Given the description of an element on the screen output the (x, y) to click on. 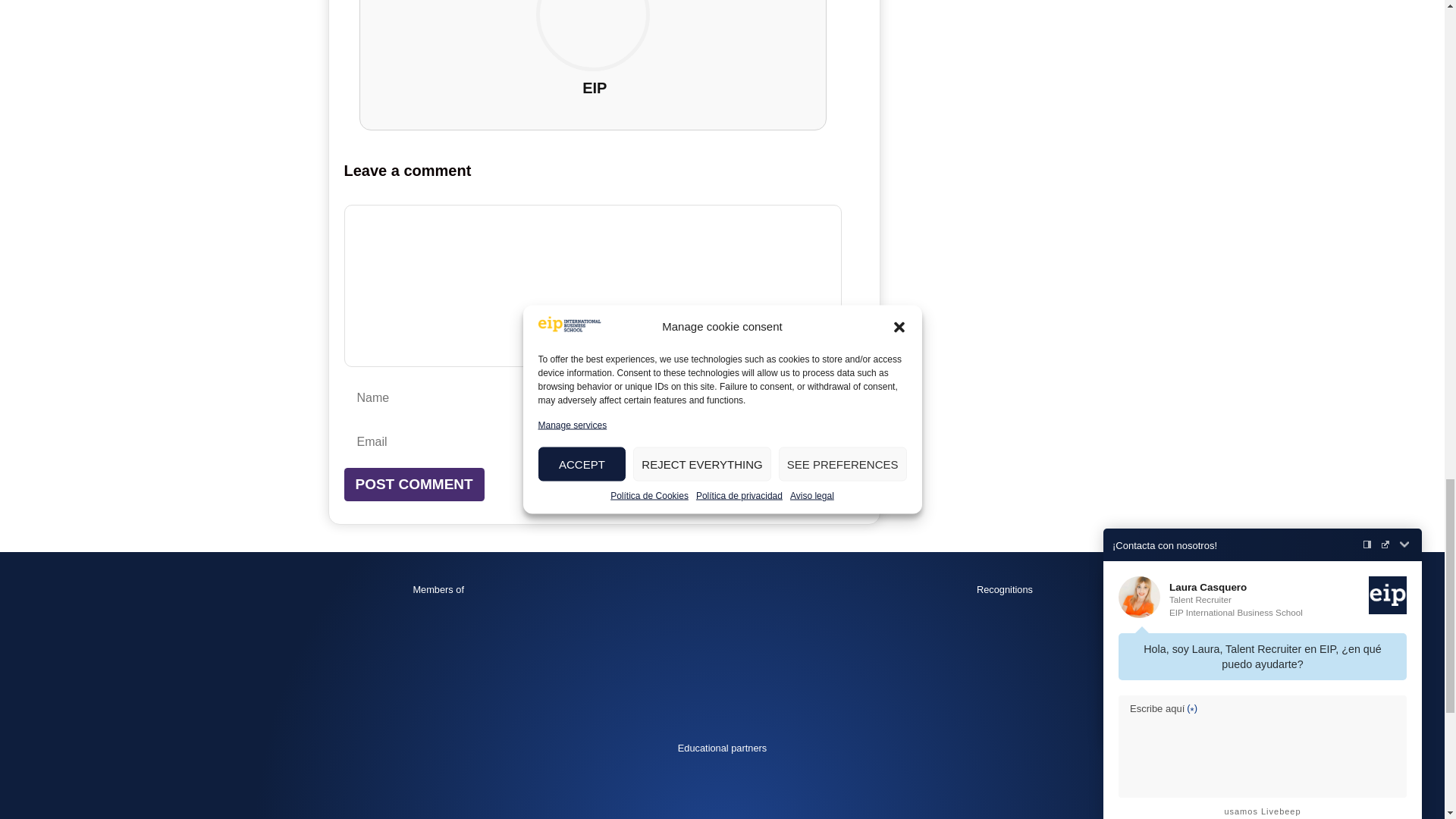
Post Comment (413, 484)
